Given the description of an element on the screen output the (x, y) to click on. 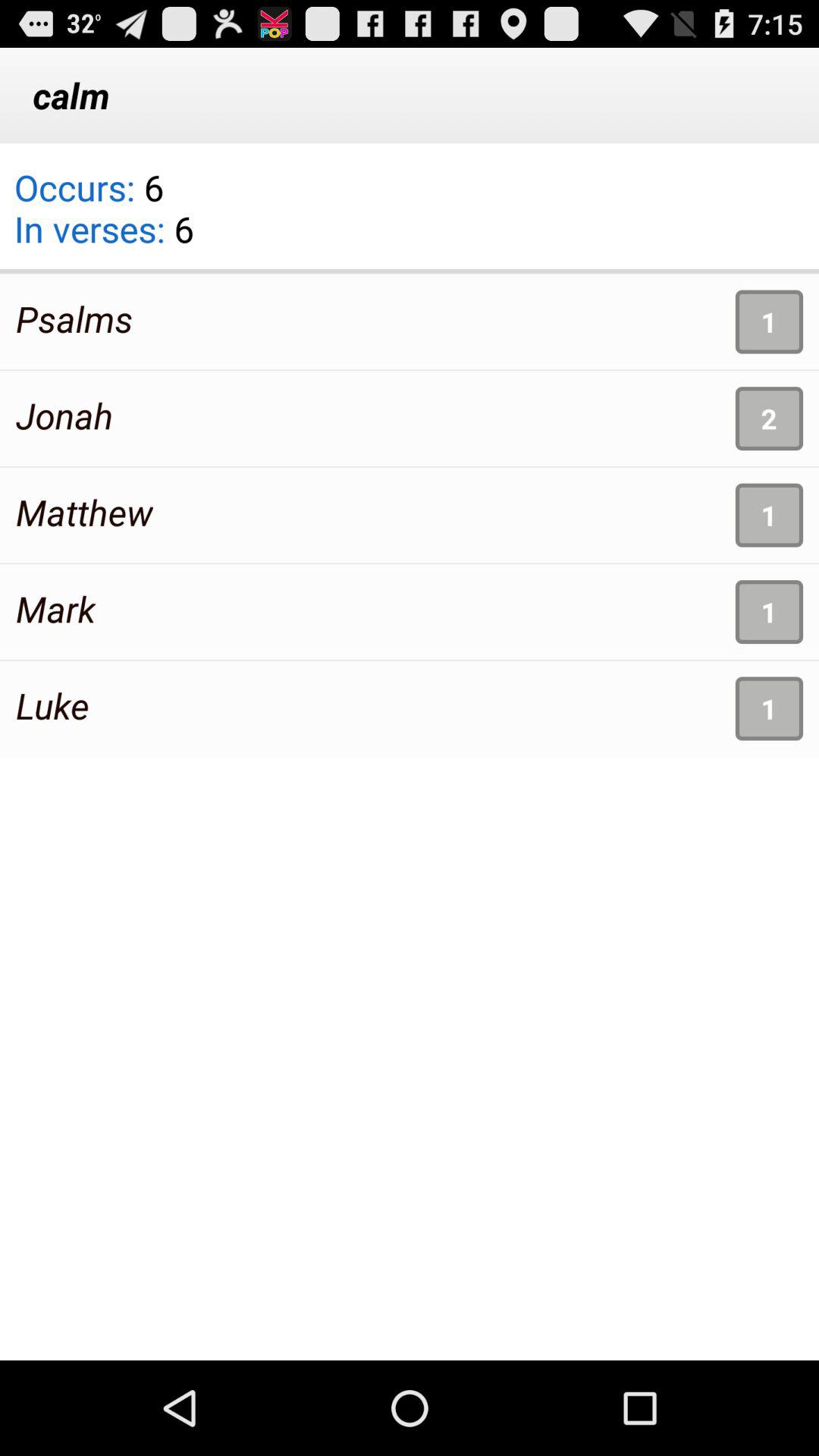
tap icon below occurs 6 in item (74, 318)
